Given the description of an element on the screen output the (x, y) to click on. 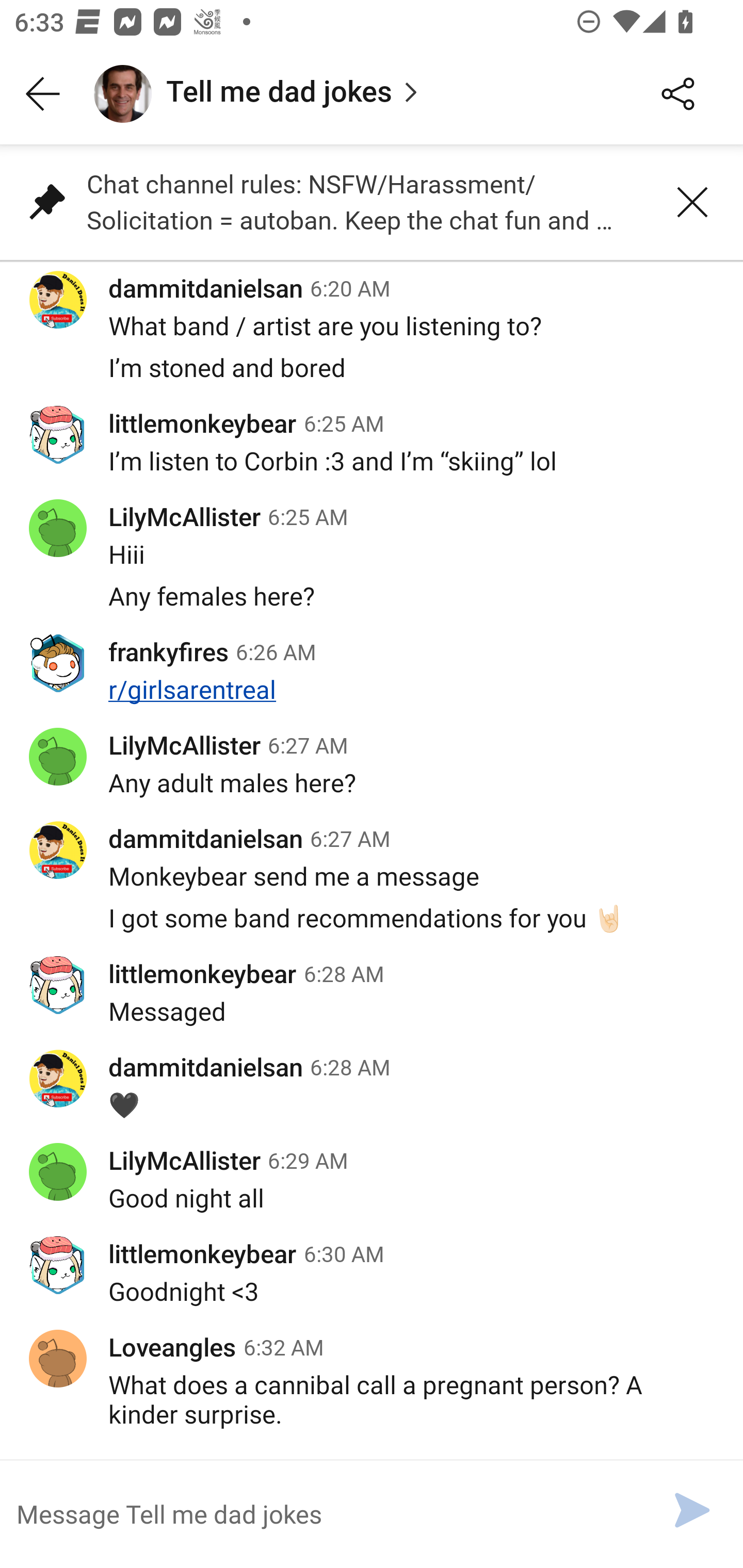
Back (43, 93)
Tell me dad jokes (353, 93)
Share (677, 93)
I’m stoned and bored (371, 378)
LilyMcAllister LilyMcAllister posted 6:25 AM Hiii (371, 531)
Any females here? (371, 607)
I got some band recommendations for you 🤘🏻 (371, 928)
dammitdanielsan dammitdanielsan posted 6:28 AM 🖤 (371, 1085)
Send message (692, 1510)
Message Message Tell me dad jokes (324, 1513)
